Given the description of an element on the screen output the (x, y) to click on. 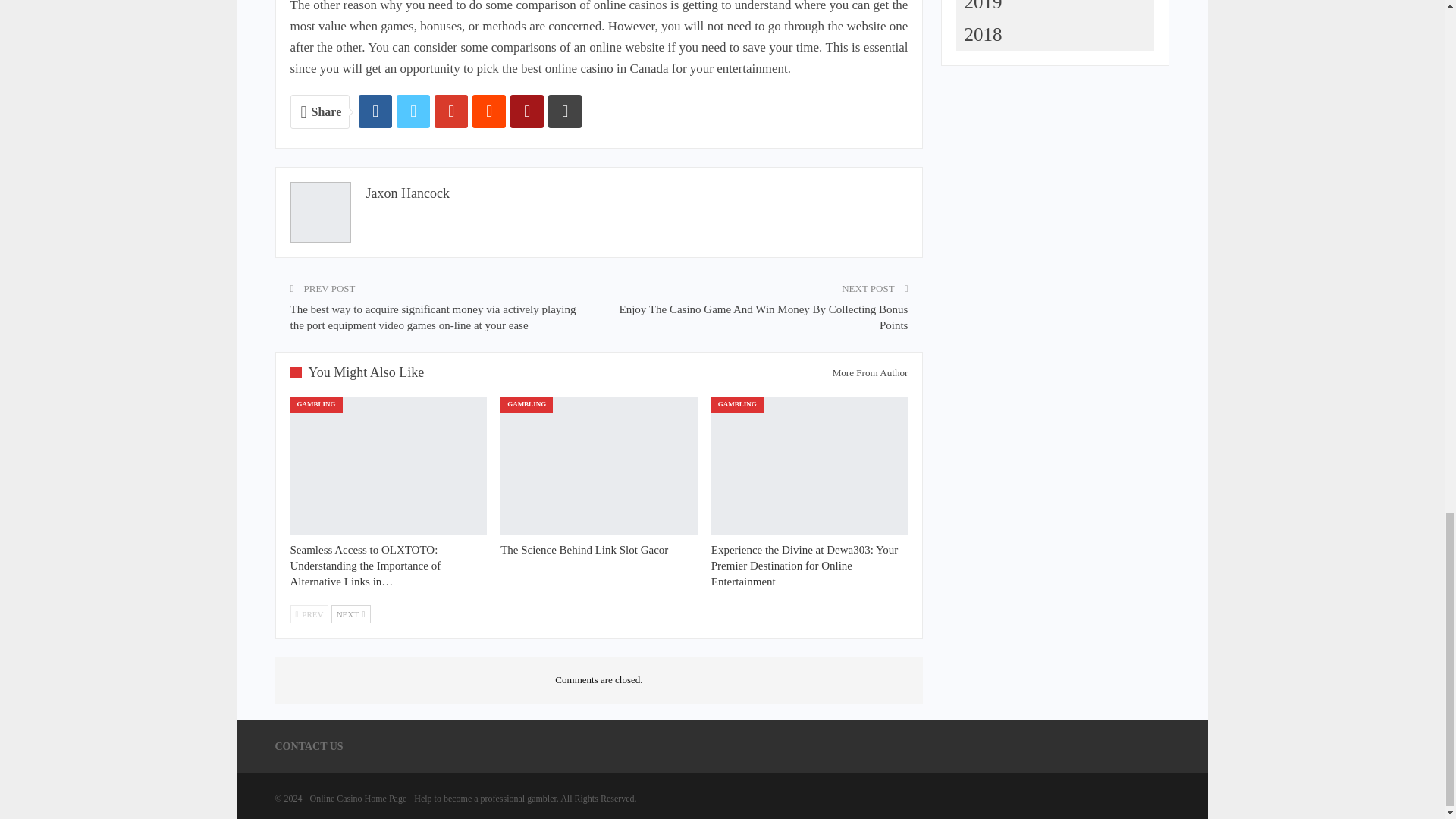
The Science Behind Link Slot Gacor (584, 549)
Next (351, 614)
The Science Behind Link Slot Gacor (598, 465)
Previous (309, 614)
